Given the description of an element on the screen output the (x, y) to click on. 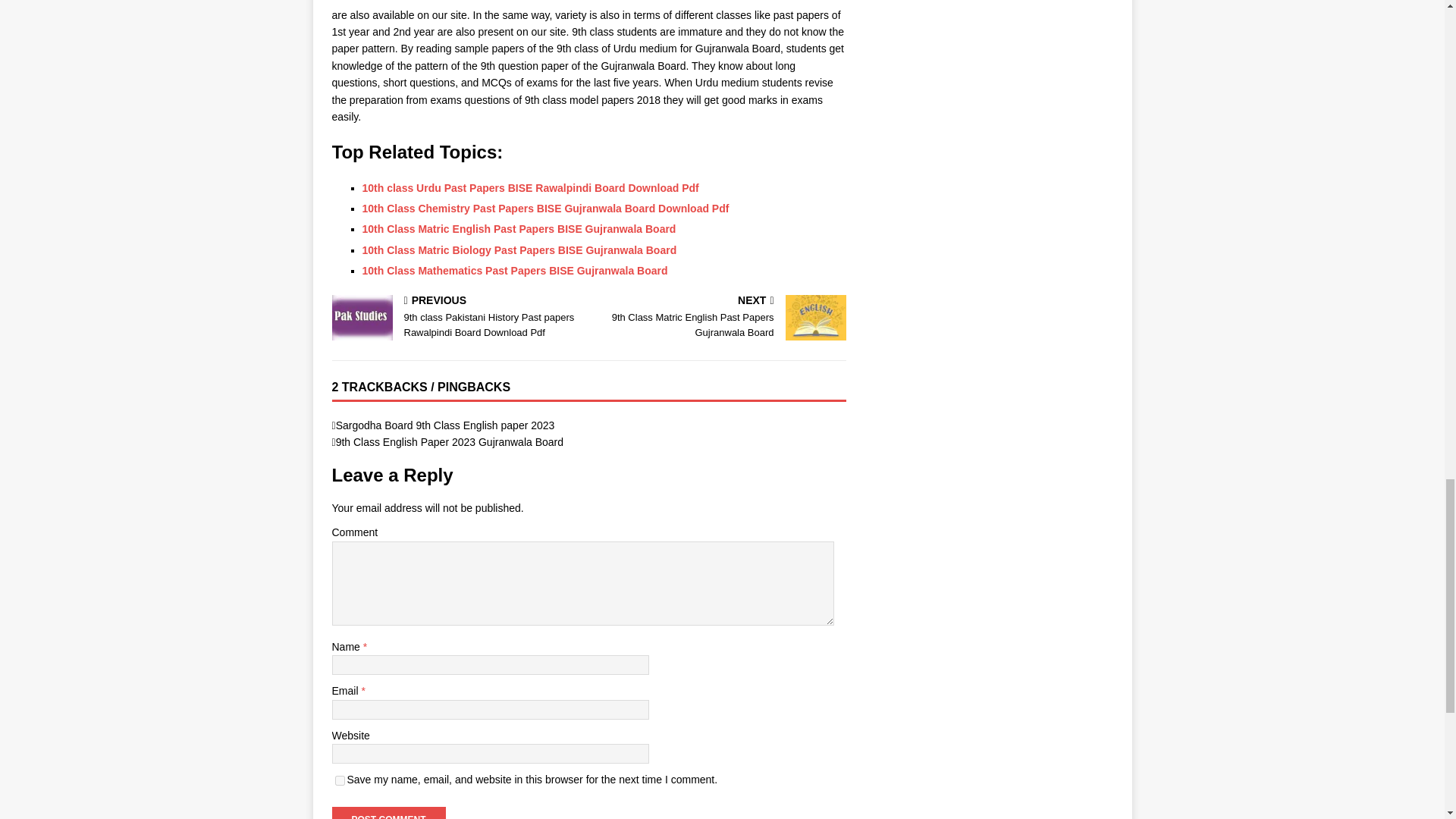
9th Class English Paper 2023 Gujranwala Board (449, 441)
Post Comment (388, 812)
10th Class Mathematics Past Papers BISE Gujranwala Board (515, 270)
10th Class Matric Biology Past Papers BISE Gujranwala Board (519, 250)
Sargodha Board 9th Class English paper 2023 (720, 318)
yes (445, 425)
Post Comment (339, 780)
10th Class Matric English Past Papers BISE Gujranwala Board (388, 812)
